Given the description of an element on the screen output the (x, y) to click on. 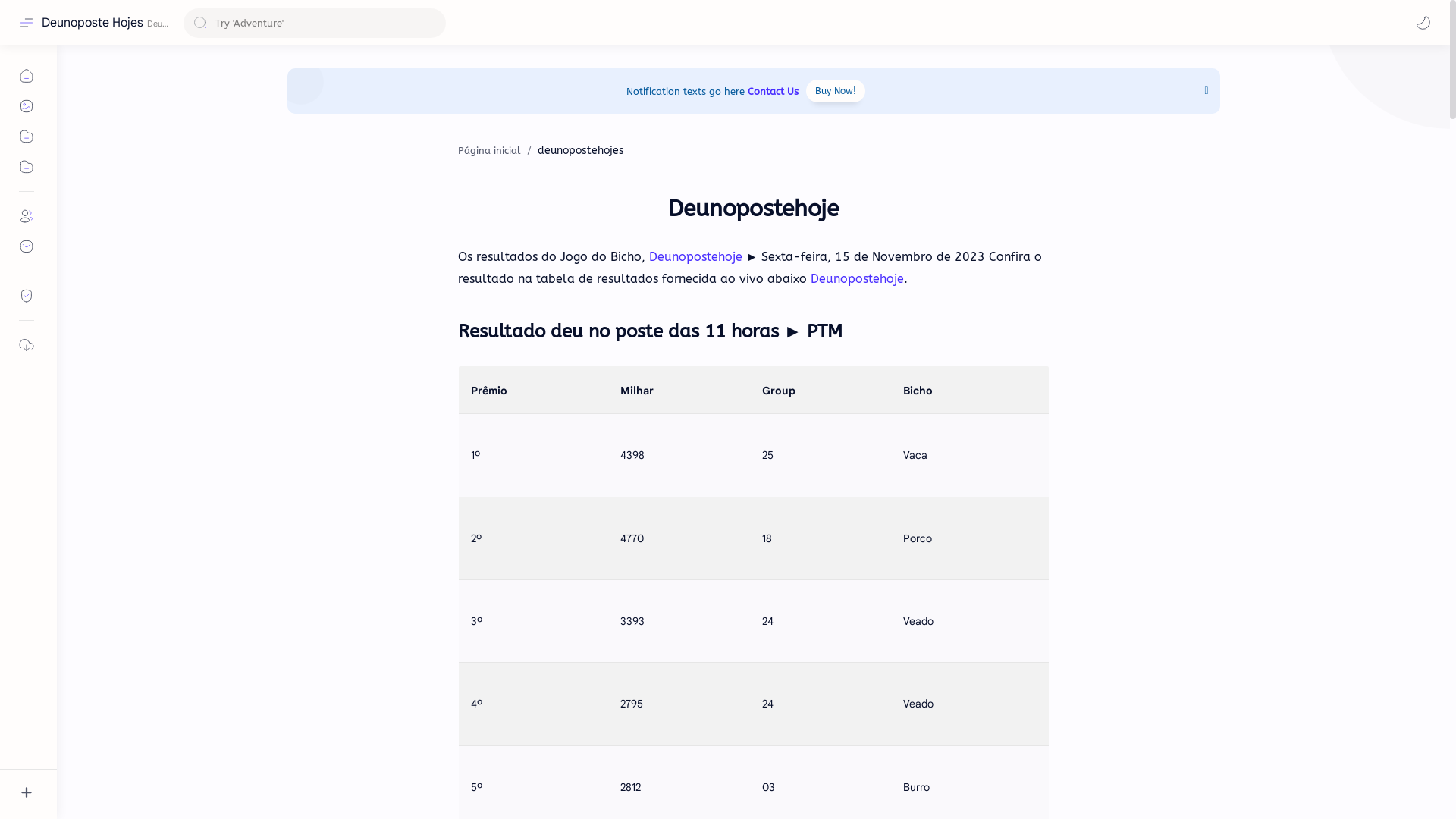
Deunopostehoje Element type: text (695, 256)
Contact Us Element type: text (772, 90)
Buy Now! Element type: text (835, 90)
Deunoposte Hojes Element type: text (92, 22)
Deunopostehoje Element type: text (856, 278)
